Given the description of an element on the screen output the (x, y) to click on. 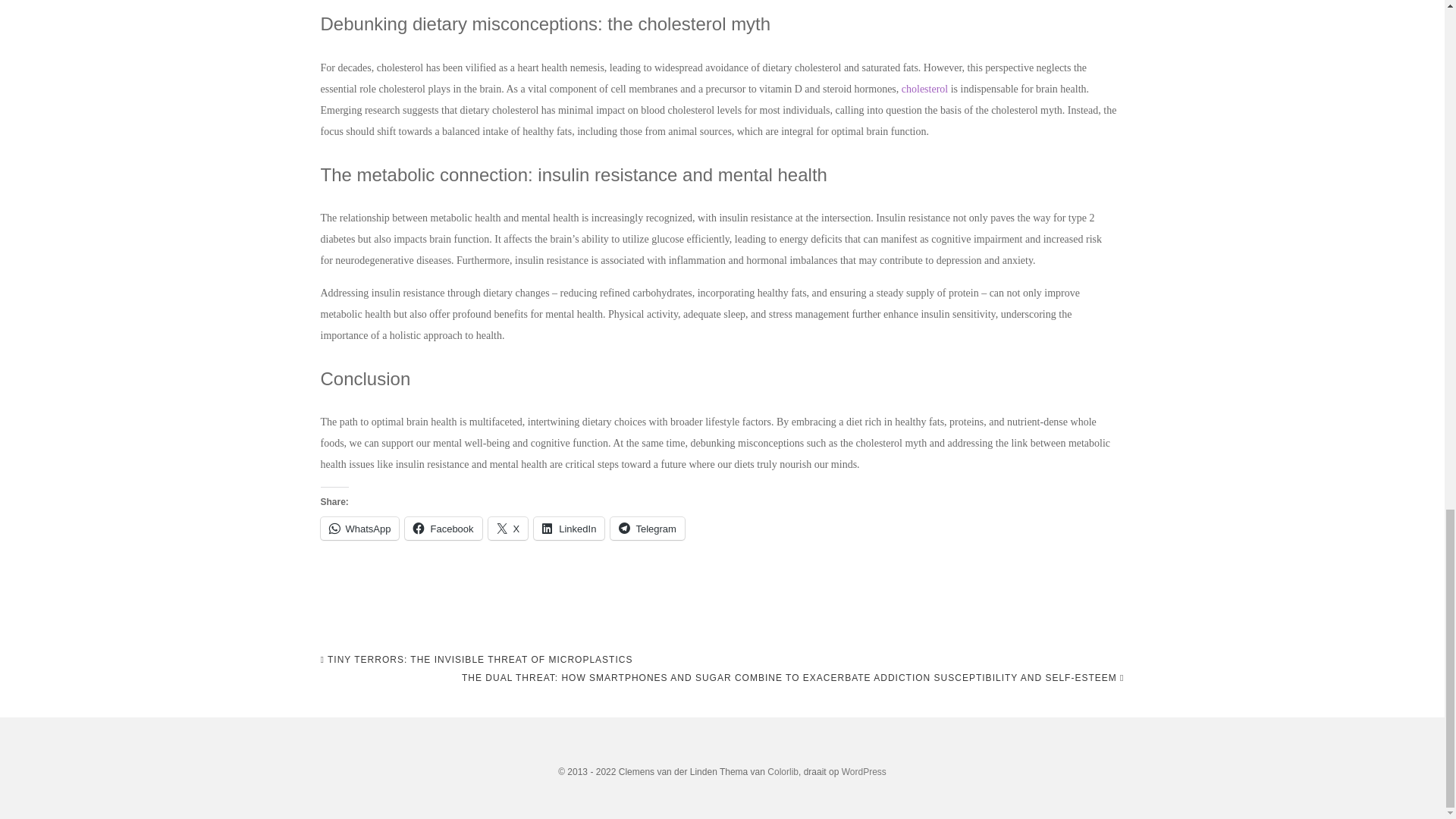
Colorlib (782, 771)
Facebook (442, 527)
Klik om te delen op Telegram (647, 527)
Klik om te delen op Facebook (442, 527)
LinkedIn (569, 527)
TINY TERRORS: THE INVISIBLE THREAT OF MICROPLASTICS (475, 659)
cholesterol (924, 89)
X (507, 527)
Klik om te delen op WhatsApp (359, 527)
Telegram (647, 527)
Klik om op LinkedIn te delen (569, 527)
WhatsApp (359, 527)
WordPress (863, 771)
Klik om te delen op X (507, 527)
